Given the description of an element on the screen output the (x, y) to click on. 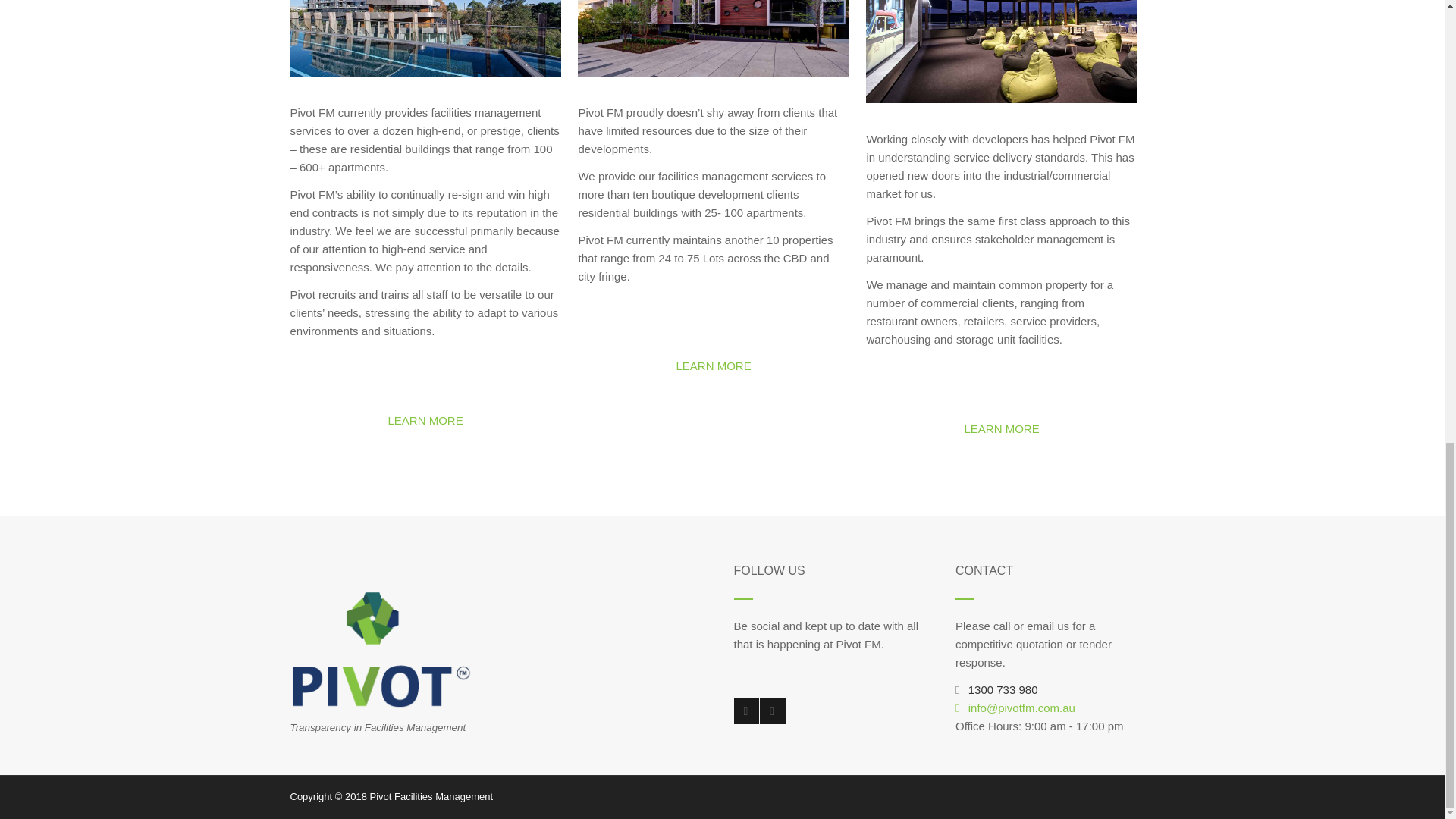
LEARN MORE (424, 420)
LEARN MORE (1001, 429)
LEARN MORE (713, 366)
1300 733 980 (1003, 689)
